Given the description of an element on the screen output the (x, y) to click on. 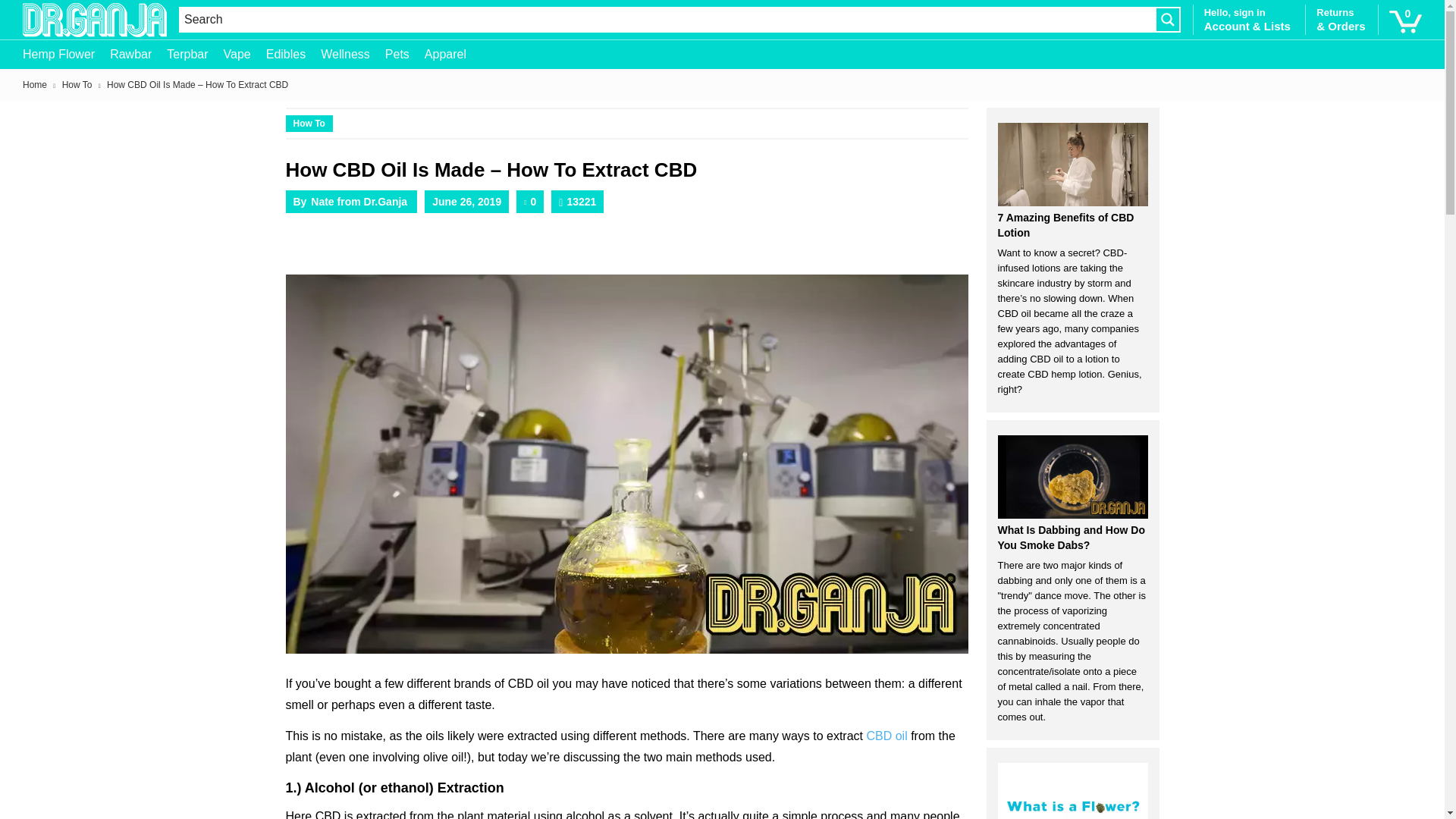
7 Amazing Benefits of CBD Lotion (1072, 164)
Dr.Ganja (95, 19)
Hemp Flower (66, 53)
Nate from Dr.Ganja (359, 201)
Wellness (352, 53)
How To (308, 123)
Home (34, 84)
Rawbar (138, 53)
0 (1405, 18)
